Given the description of an element on the screen output the (x, y) to click on. 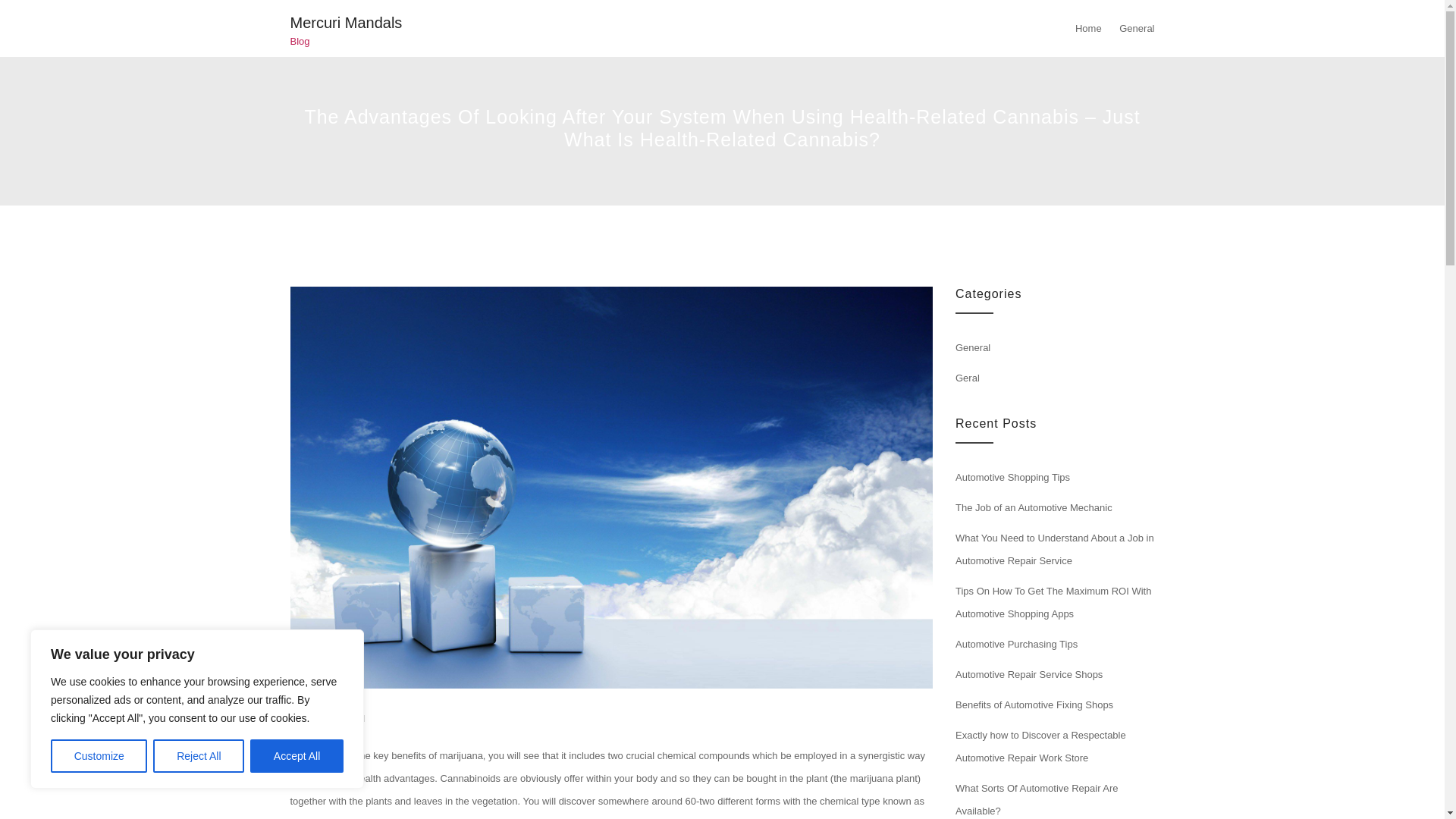
Automotive Repair Service Shops (1028, 674)
Accept All (296, 756)
Automotive Shopping Tips (1012, 477)
Customize (98, 756)
The Job of an Automotive Mechanic (1033, 507)
Reject All (198, 756)
General (347, 717)
Mercuri Mandals (345, 22)
Benefits of Automotive Fixing Shops (1034, 704)
Geral (967, 378)
General (972, 347)
Automotive Purchasing Tips (1016, 644)
